Given the description of an element on the screen output the (x, y) to click on. 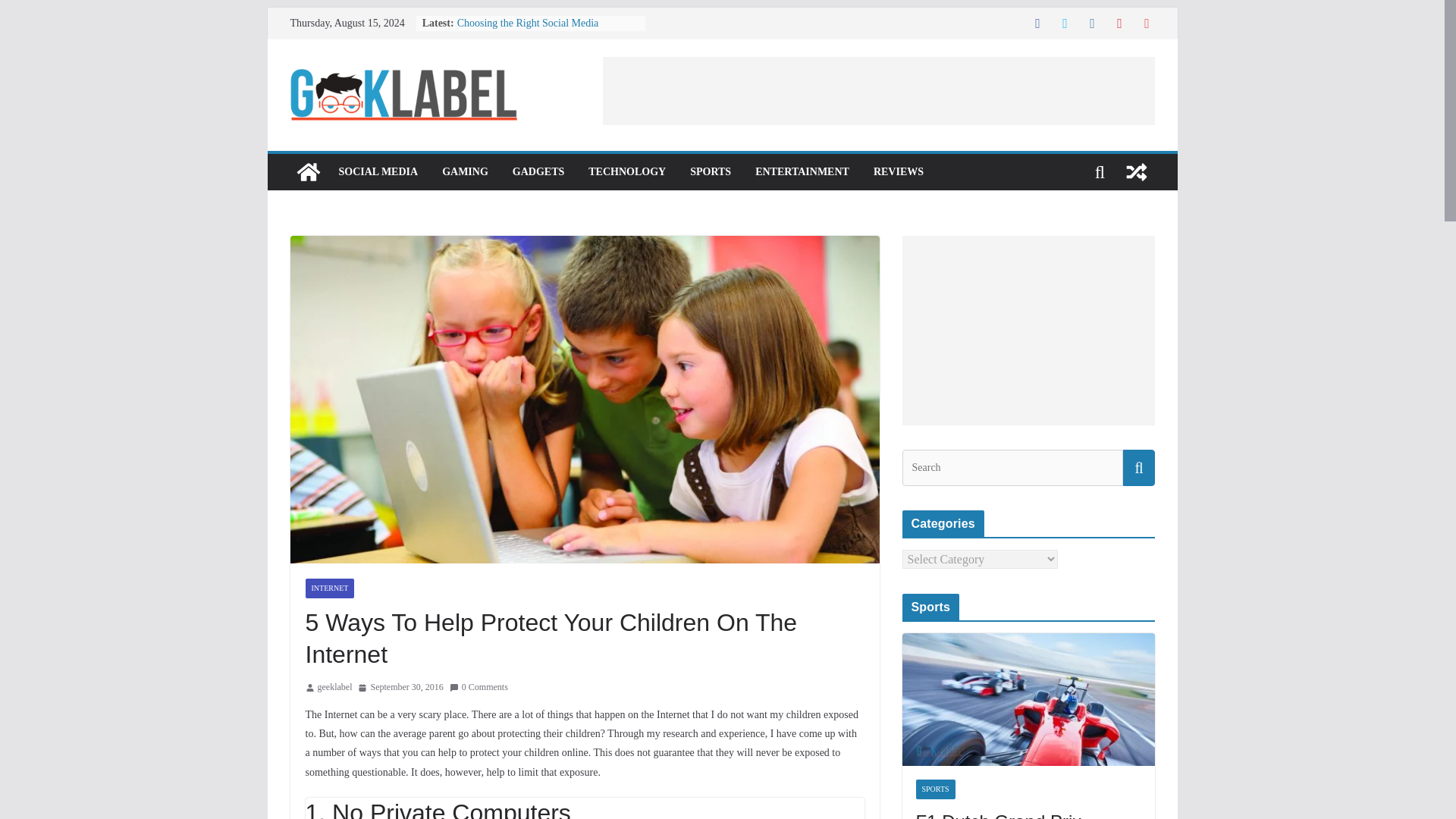
geeklabel (334, 687)
SOCIAL MEDIA (377, 171)
September 30, 2016 (400, 687)
Geek Label (307, 171)
1:52 pm (400, 687)
TECHNOLOGY (626, 171)
GAMING (464, 171)
GADGETS (538, 171)
